Given the description of an element on the screen output the (x, y) to click on. 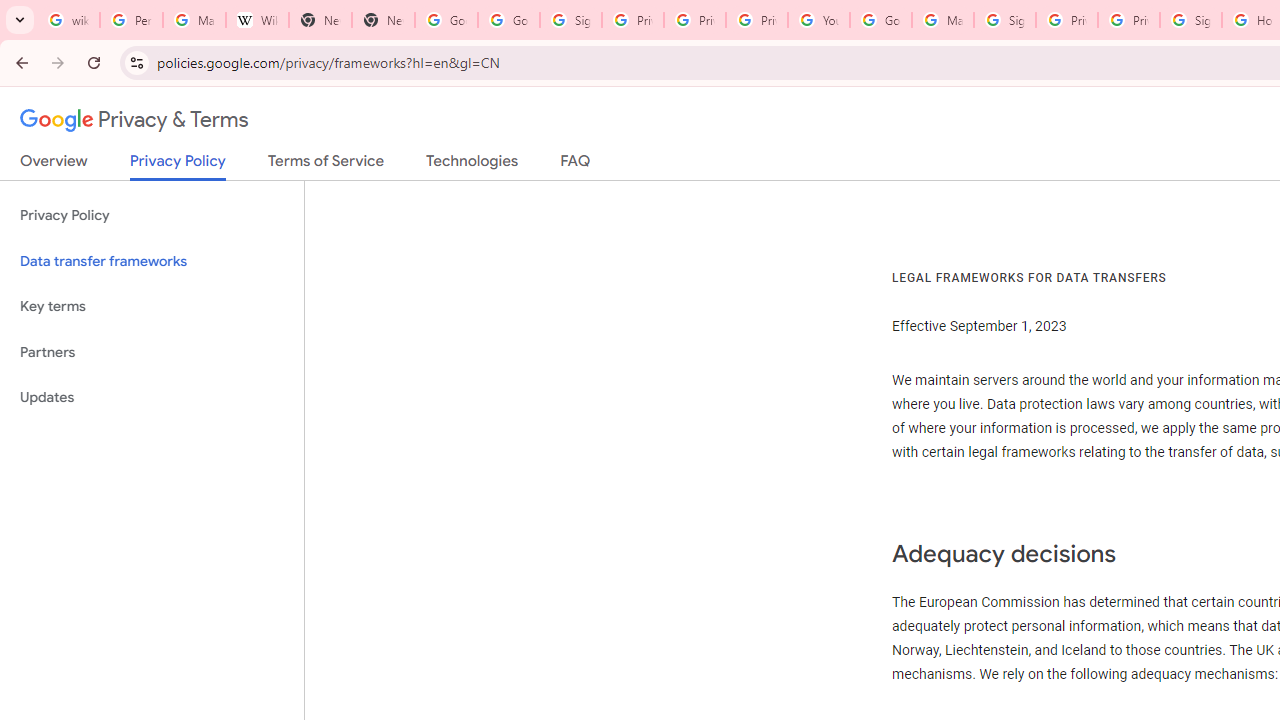
Google Drive: Sign-in (508, 20)
Key terms (152, 306)
Partners (152, 352)
Manage your Location History - Google Search Help (194, 20)
Sign in - Google Accounts (570, 20)
New Tab (320, 20)
Sign in - Google Accounts (1004, 20)
Google Account Help (880, 20)
